Given the description of an element on the screen output the (x, y) to click on. 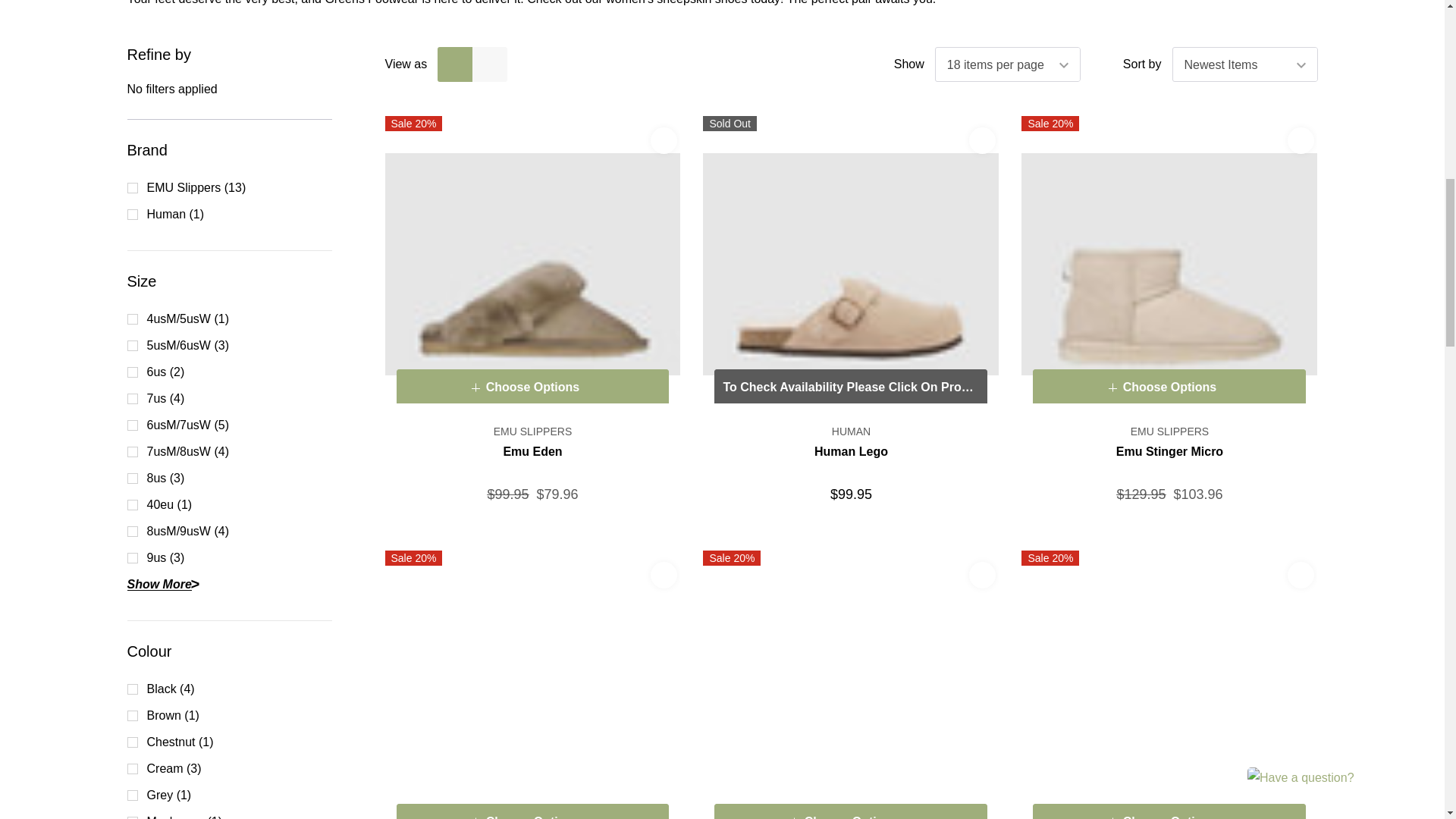
Tawny (1169, 684)
Macadamia (1169, 263)
Natural (850, 684)
Sand Suede (850, 263)
Chestnut (533, 684)
mushroom (533, 263)
